Given the description of an element on the screen output the (x, y) to click on. 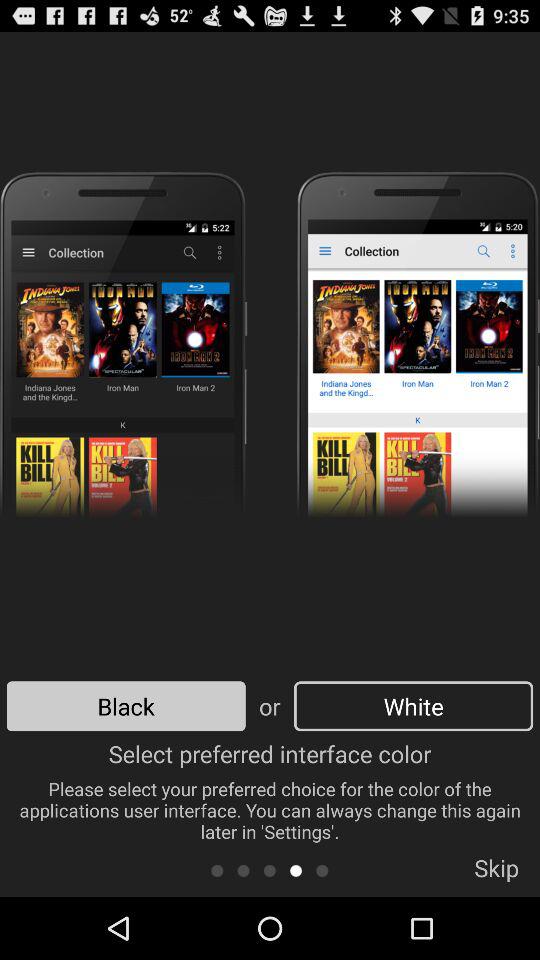
choose black app (125, 706)
